Given the description of an element on the screen output the (x, y) to click on. 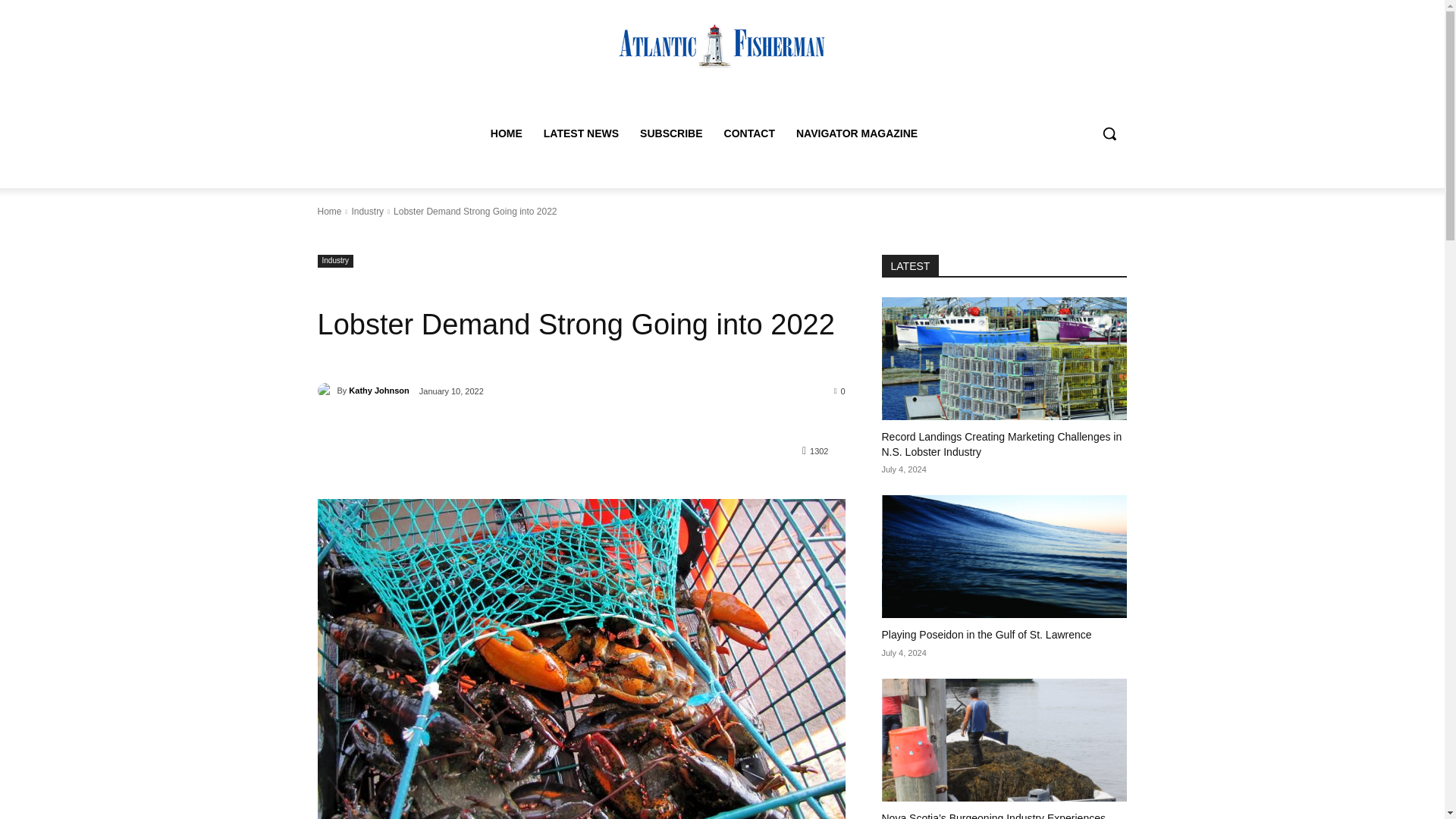
Home (328, 211)
HOME (506, 133)
CONTACT (749, 133)
Industry (367, 211)
SUBSCRIBE (670, 133)
0 (839, 389)
NAVIGATOR MAGAZINE (857, 133)
Kathy Johnson (379, 390)
LATEST NEWS (580, 133)
Kathy Johnson (326, 390)
Industry (335, 260)
